Given the description of an element on the screen output the (x, y) to click on. 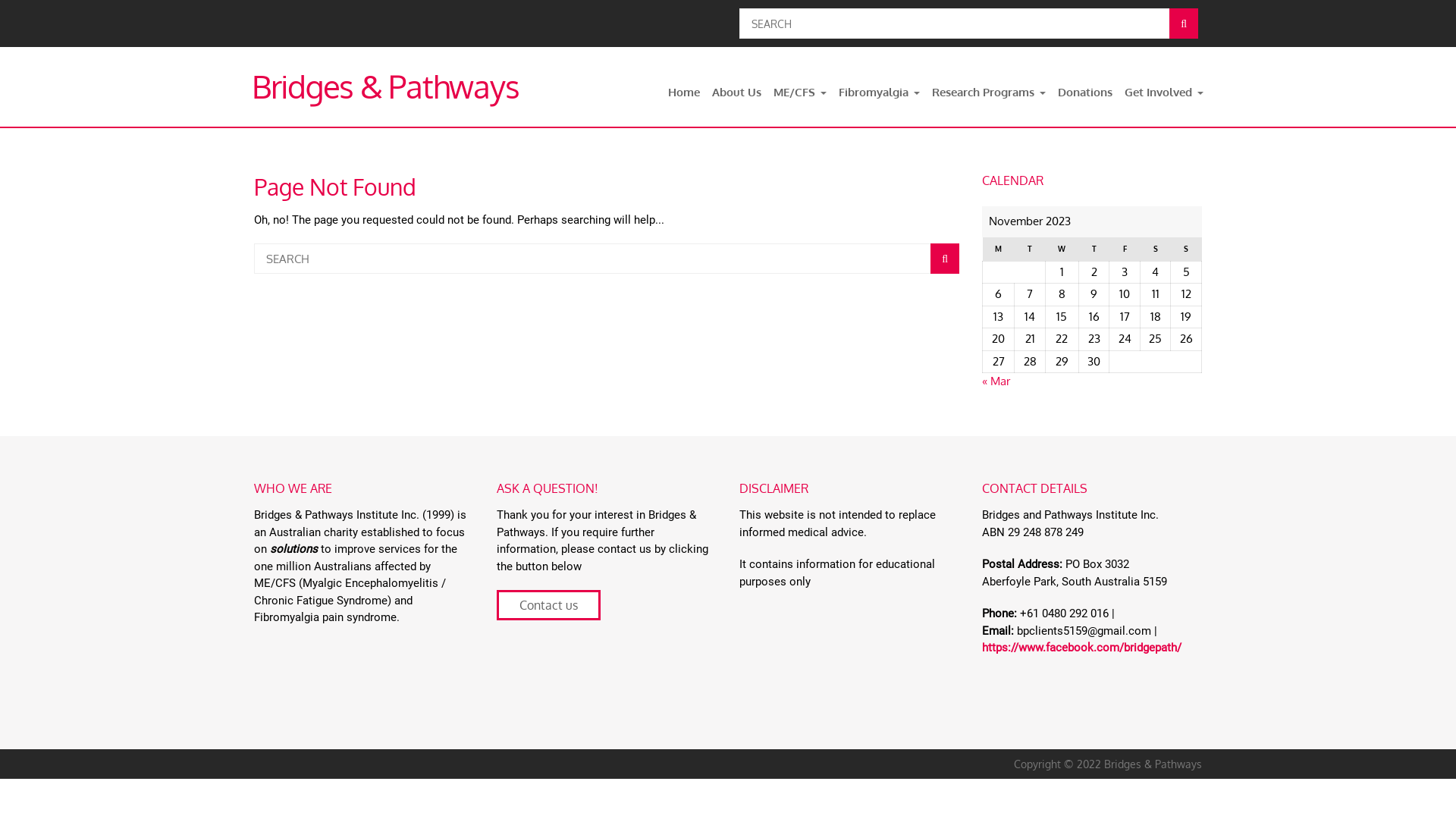
Bridges & Pathways Element type: text (384, 85)
About Us Element type: text (736, 91)
Research Programs Element type: text (988, 91)
Fibromyalgia Element type: text (878, 91)
Get Involved Element type: text (1163, 91)
ME/CFS Element type: text (799, 91)
https://www.facebook.com/bridgepath/ Element type: text (1081, 647)
Contact us Element type: text (548, 604)
Donations Element type: text (1084, 91)
Home Element type: text (684, 91)
